Given the description of an element on the screen output the (x, y) to click on. 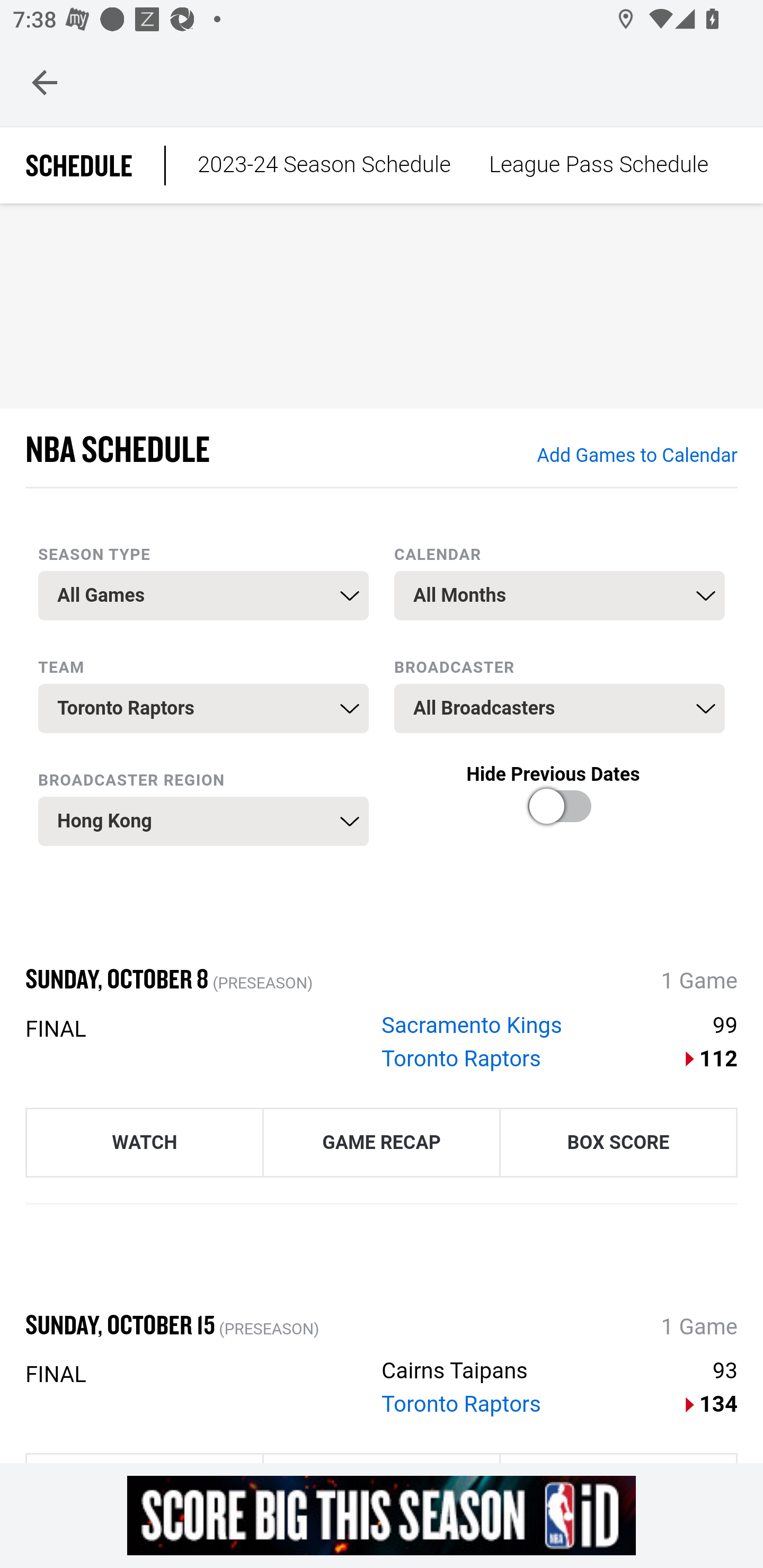
Navigate up (44, 82)
2023-24 Season Schedule (323, 165)
League Pass Schedule (598, 165)
Add Games to Calendar (636, 455)
All Games (203, 595)
All Months (559, 595)
Toronto Raptors (203, 708)
All Broadcasters (559, 708)
Hong Kong (203, 821)
Hide Previous Dates (559, 819)
Sacramento Kings (472, 1025)
Toronto Raptors (461, 1058)
WATCH (144, 1141)
GAME RECAP (381, 1141)
BOX SCORE (618, 1141)
Toronto Raptors (461, 1404)
g5nqqygr7owph (381, 1515)
